Given the description of an element on the screen output the (x, y) to click on. 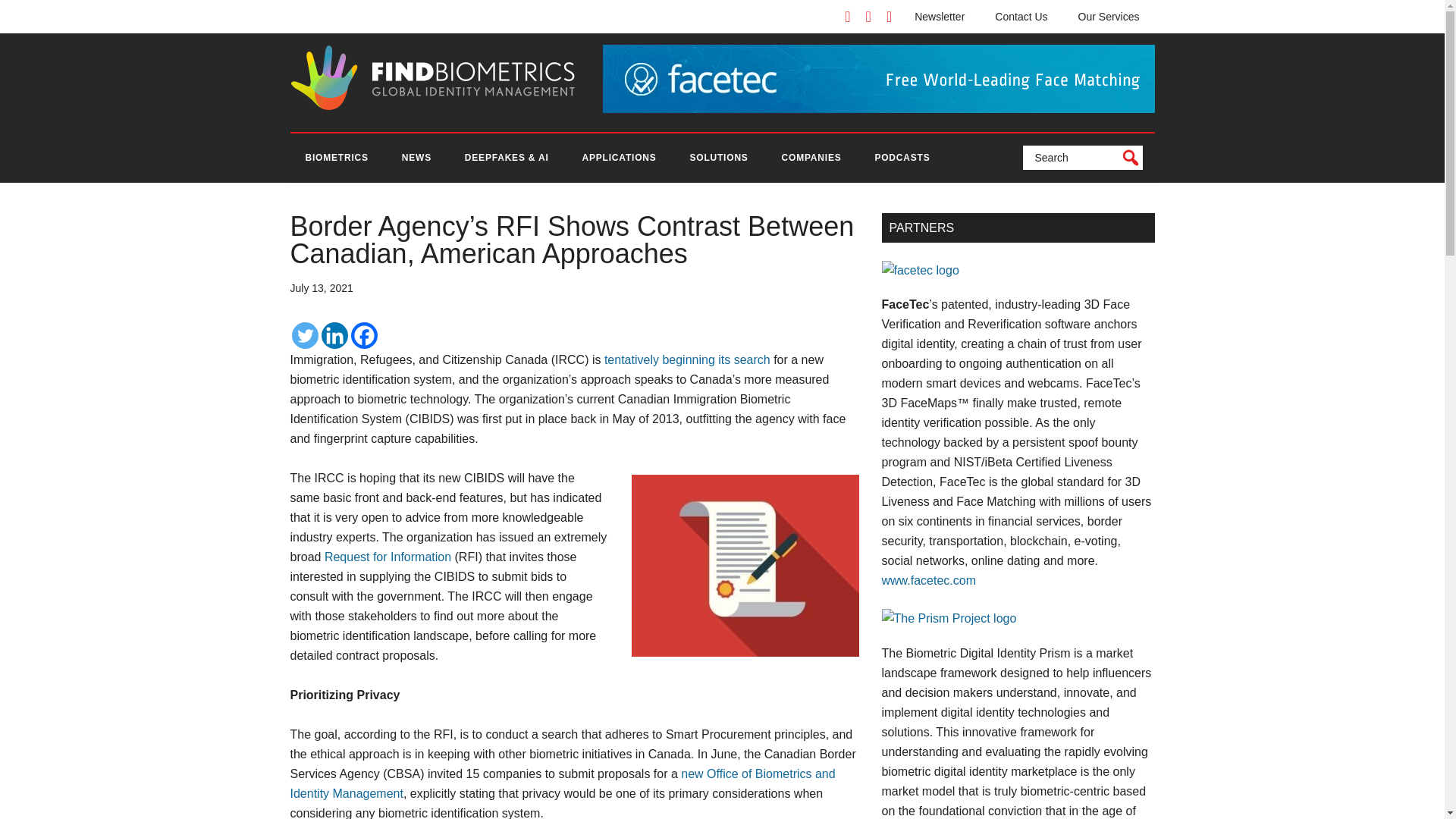
BIOMETRICS (335, 157)
SOLUTIONS (718, 157)
Facebook (363, 335)
NEWS (416, 157)
Our Services (1108, 16)
Twitter (304, 335)
Linkedin (334, 335)
Newsletter (939, 16)
APPLICATIONS (619, 157)
Contact Us (1020, 16)
